Given the description of an element on the screen output the (x, y) to click on. 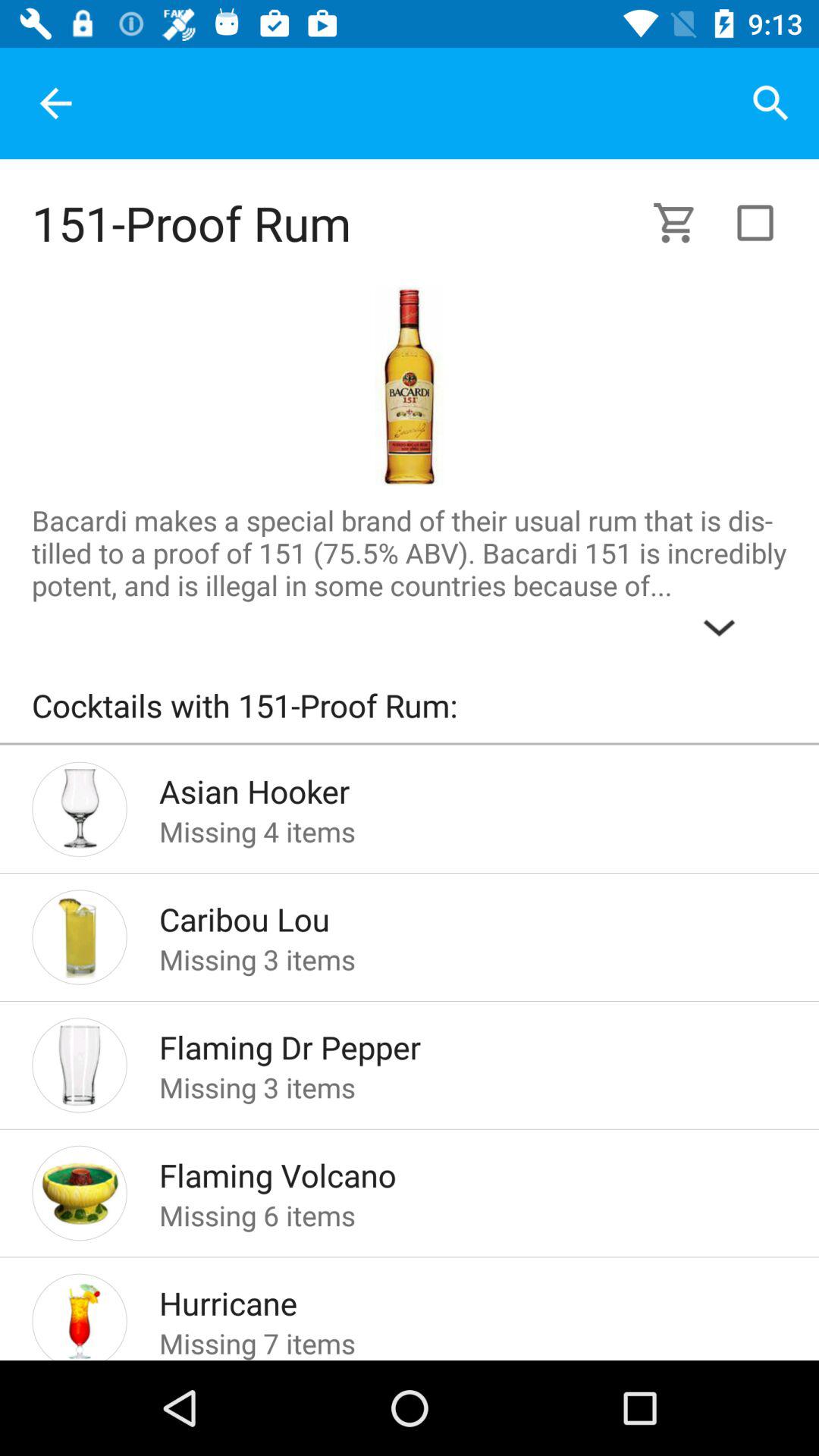
turn on item above missing 3 items (449, 914)
